Given the description of an element on the screen output the (x, y) to click on. 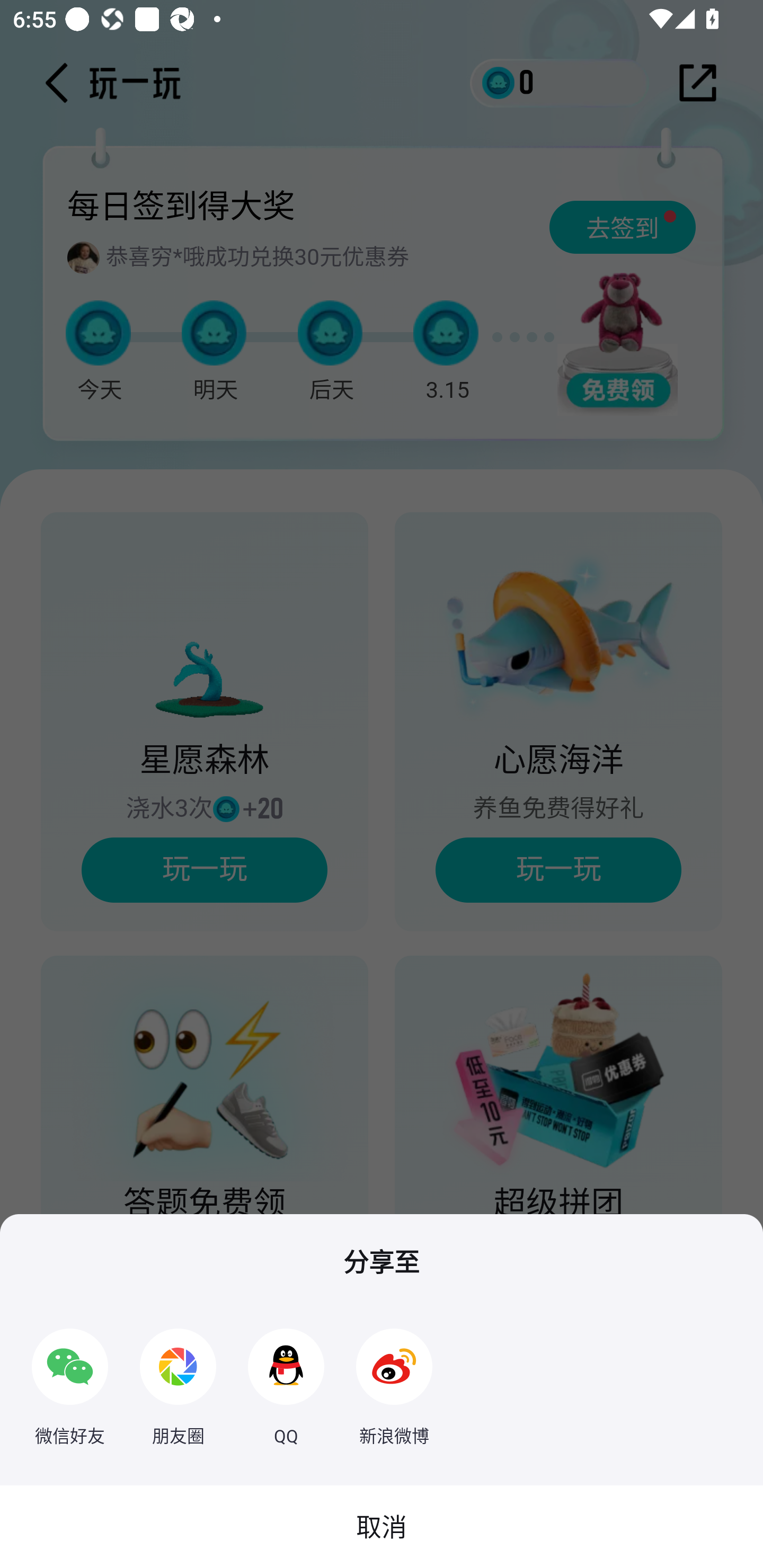
微信好友 (69, 1378)
朋友圈 (177, 1378)
QQ (285, 1378)
新浪微博 (394, 1378)
取消 (381, 1526)
